Given the description of an element on the screen output the (x, y) to click on. 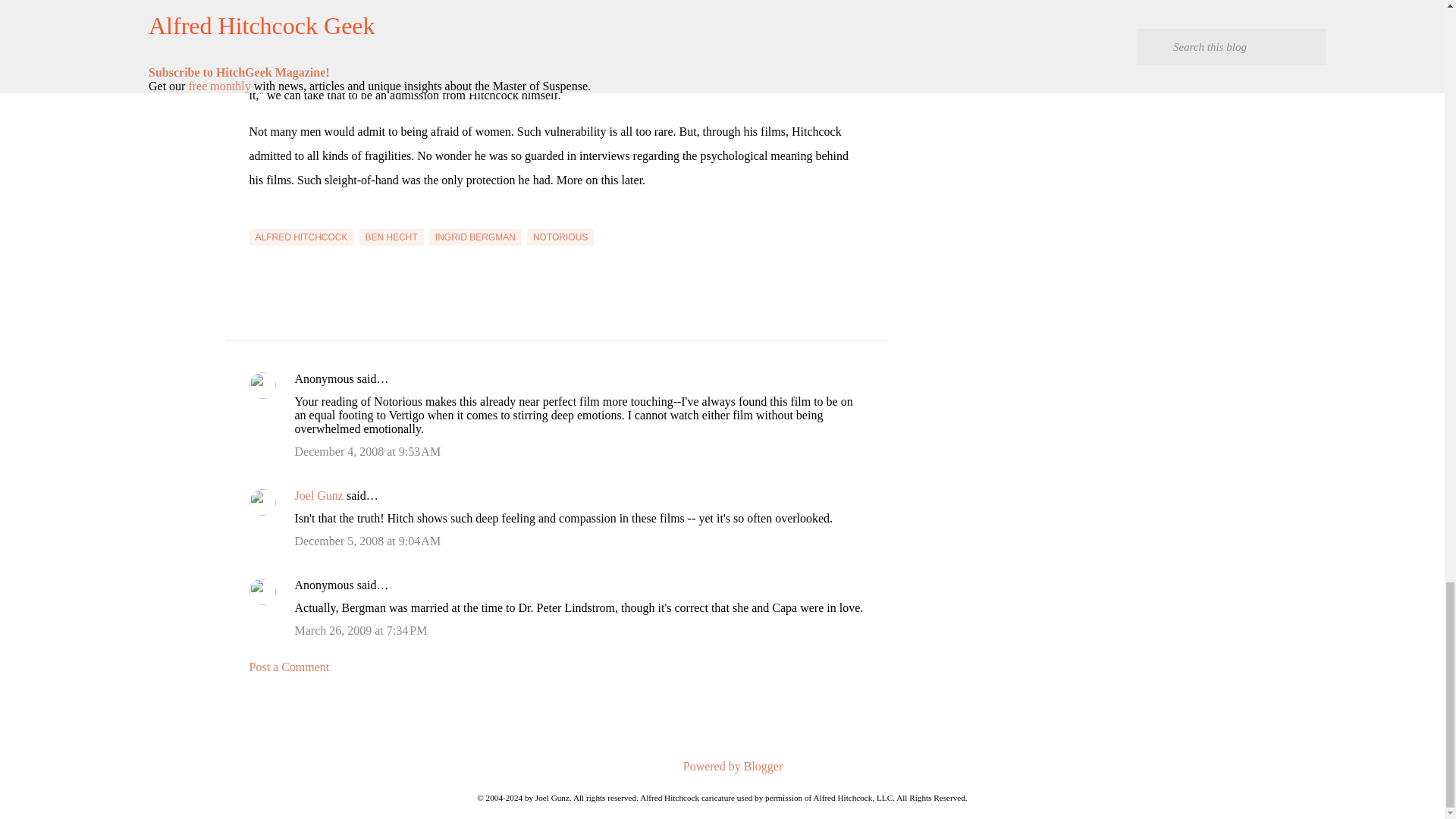
INGRID BERGMAN (475, 237)
NOTORIOUS (560, 237)
ALFRED HITCHCOCK (300, 237)
Powered by Blogger (722, 766)
BEN HECHT (391, 237)
Post a Comment (288, 666)
Joel Gunz (318, 495)
